Given the description of an element on the screen output the (x, y) to click on. 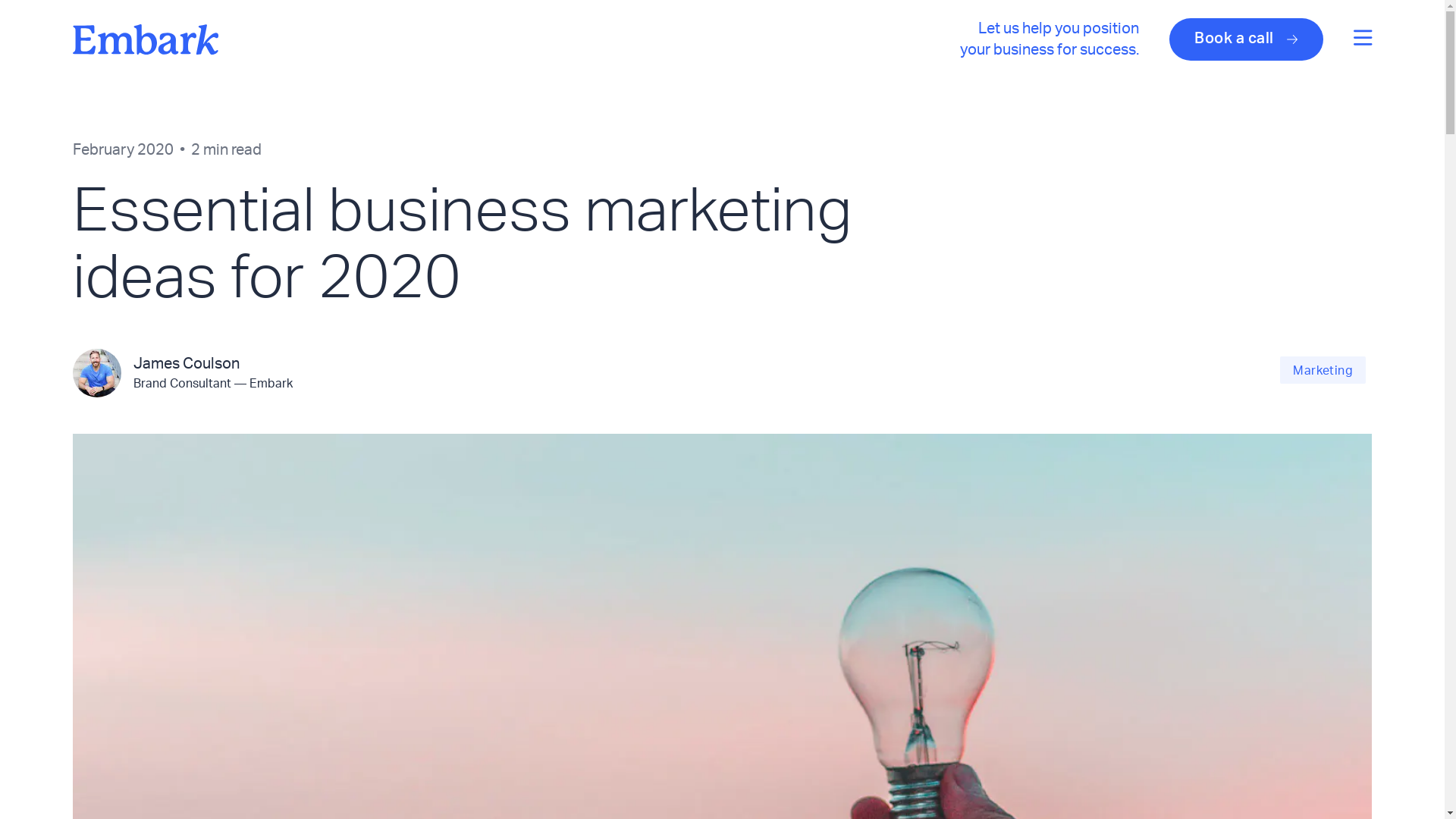
Marketing Element type: text (1322, 370)
Book a call Element type: text (1246, 39)
